Given the description of an element on the screen output the (x, y) to click on. 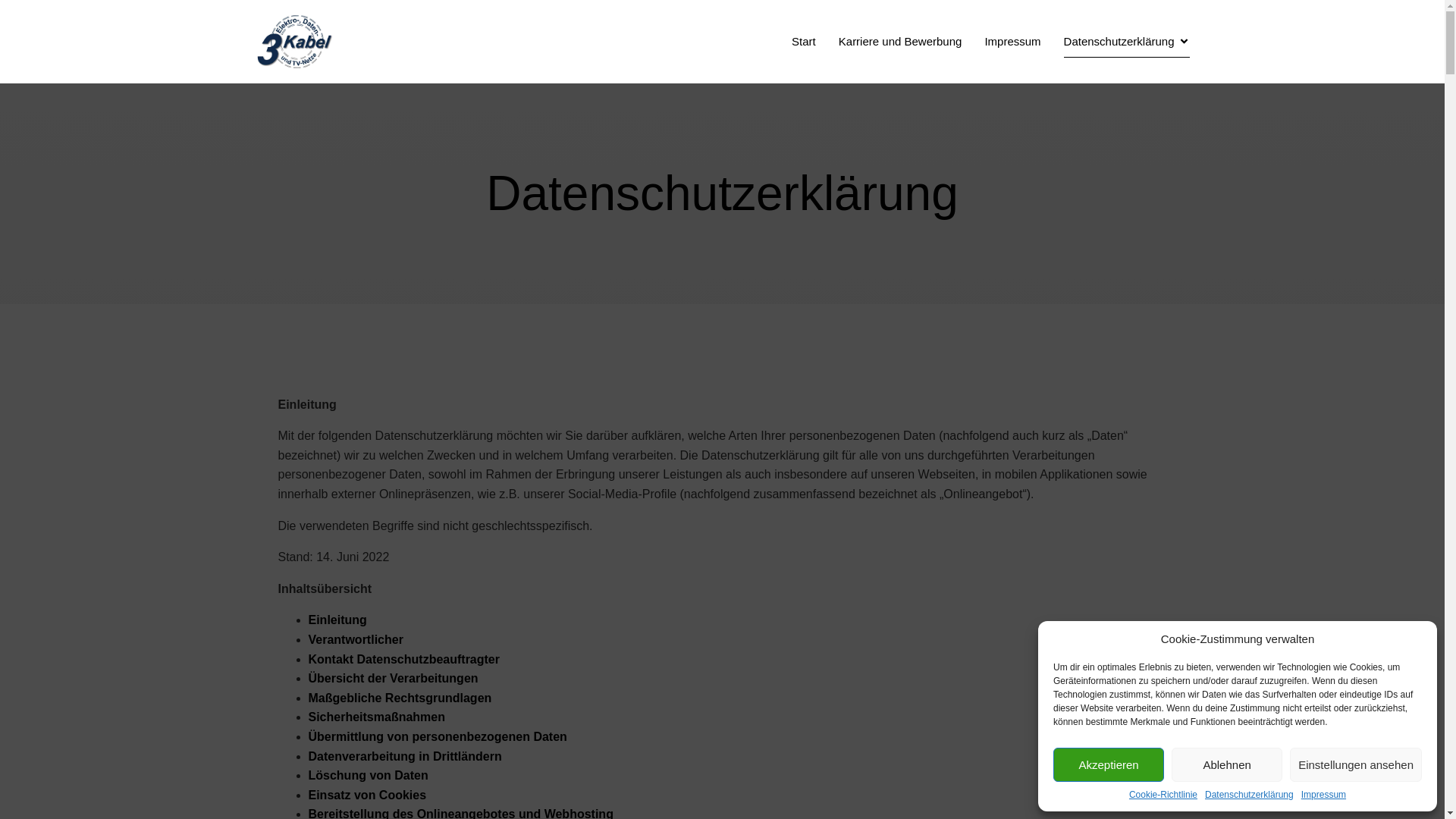
Akzeptieren Element type: text (1108, 764)
Kontakt Datenschutzbeauftragter Element type: text (402, 658)
Einstellungen ansehen Element type: text (1355, 764)
Einleitung Element type: text (336, 619)
Impressum Element type: text (1012, 41)
Verantwortlicher Element type: text (354, 639)
Einsatz von Cookies Element type: text (366, 794)
Start Element type: text (803, 41)
Cookie-Richtlinie Element type: text (1163, 794)
Ablehnen Element type: text (1226, 764)
Impressum Element type: text (1323, 794)
Karriere und Bewerbung Element type: text (900, 41)
